Given the description of an element on the screen output the (x, y) to click on. 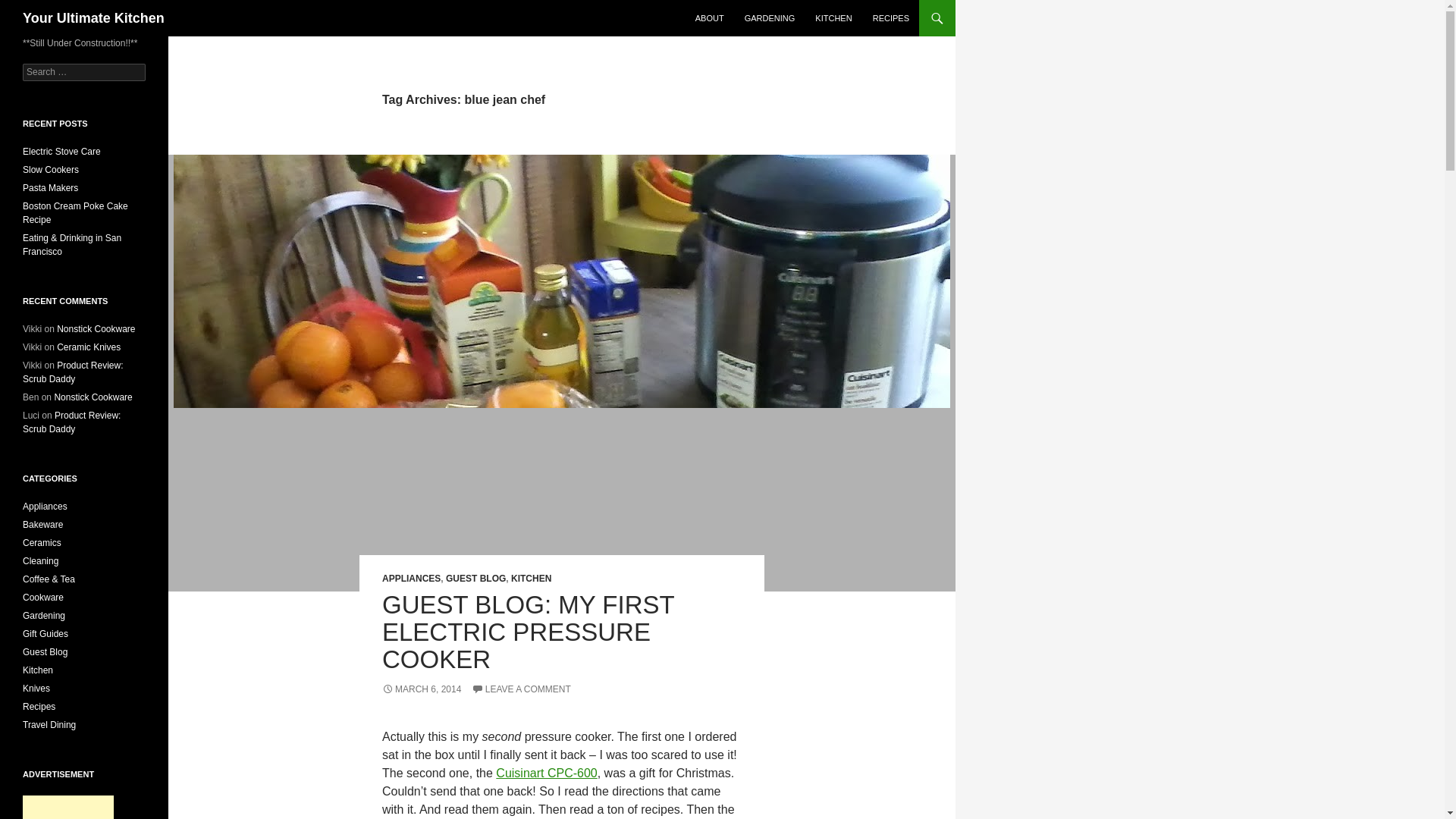
Slow Cookers (50, 169)
KITCHEN (833, 18)
MARCH 6, 2014 (421, 688)
RECIPES (890, 18)
Electric Stove Care (61, 151)
GARDENING (770, 18)
GUEST BLOG (475, 578)
ABOUT (709, 18)
Pasta Makers (50, 187)
Cuisinart CPC-600 (546, 772)
